Given the description of an element on the screen output the (x, y) to click on. 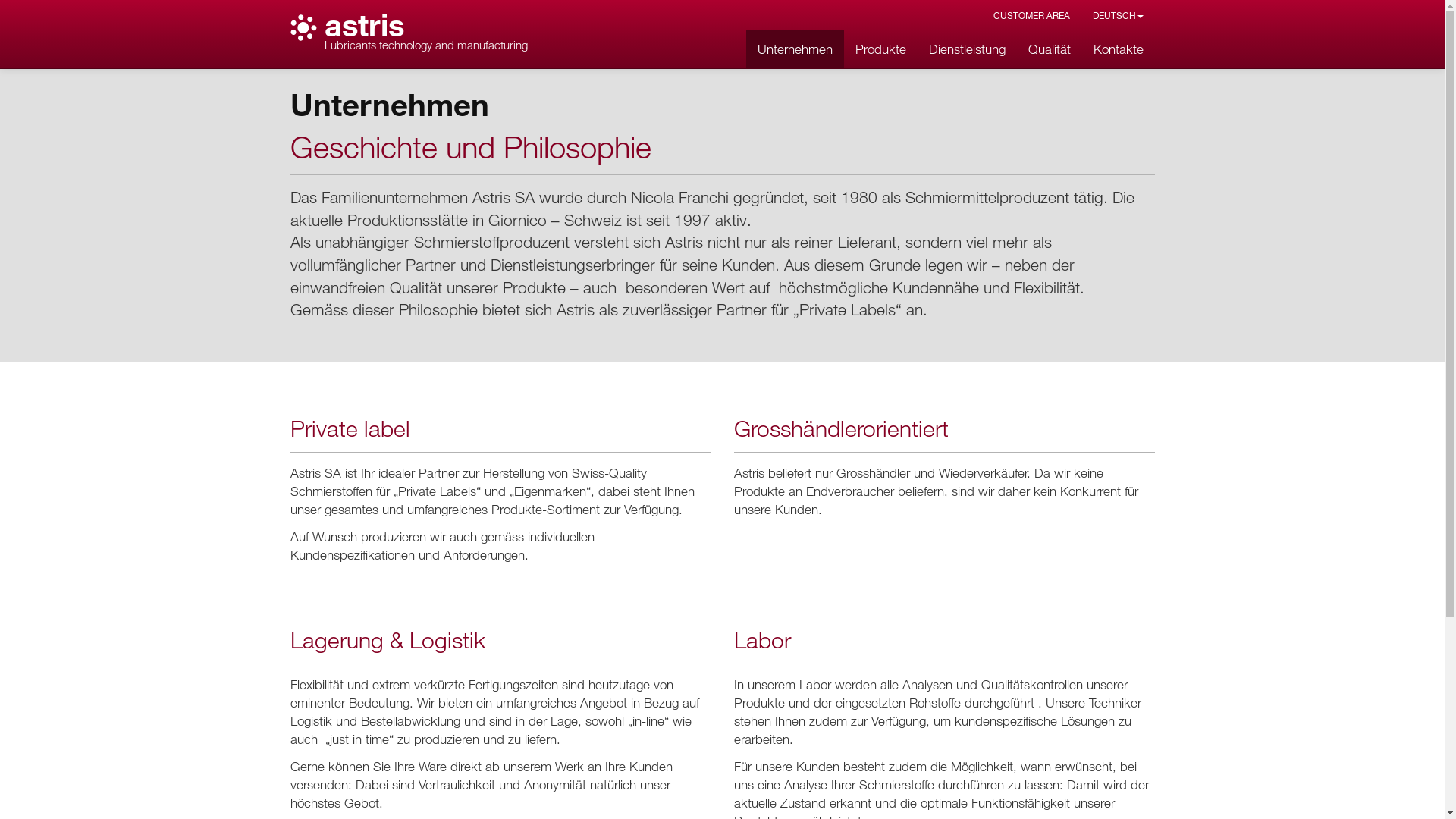
astris Element type: text (364, 24)
Dienstleistung Element type: text (966, 49)
Unternehmen Element type: text (795, 49)
Produkte Element type: text (879, 49)
DEUTSCH Element type: text (1117, 15)
Kontakte Element type: text (1117, 49)
CUSTOMER AREA Element type: text (1030, 15)
